Given the description of an element on the screen output the (x, y) to click on. 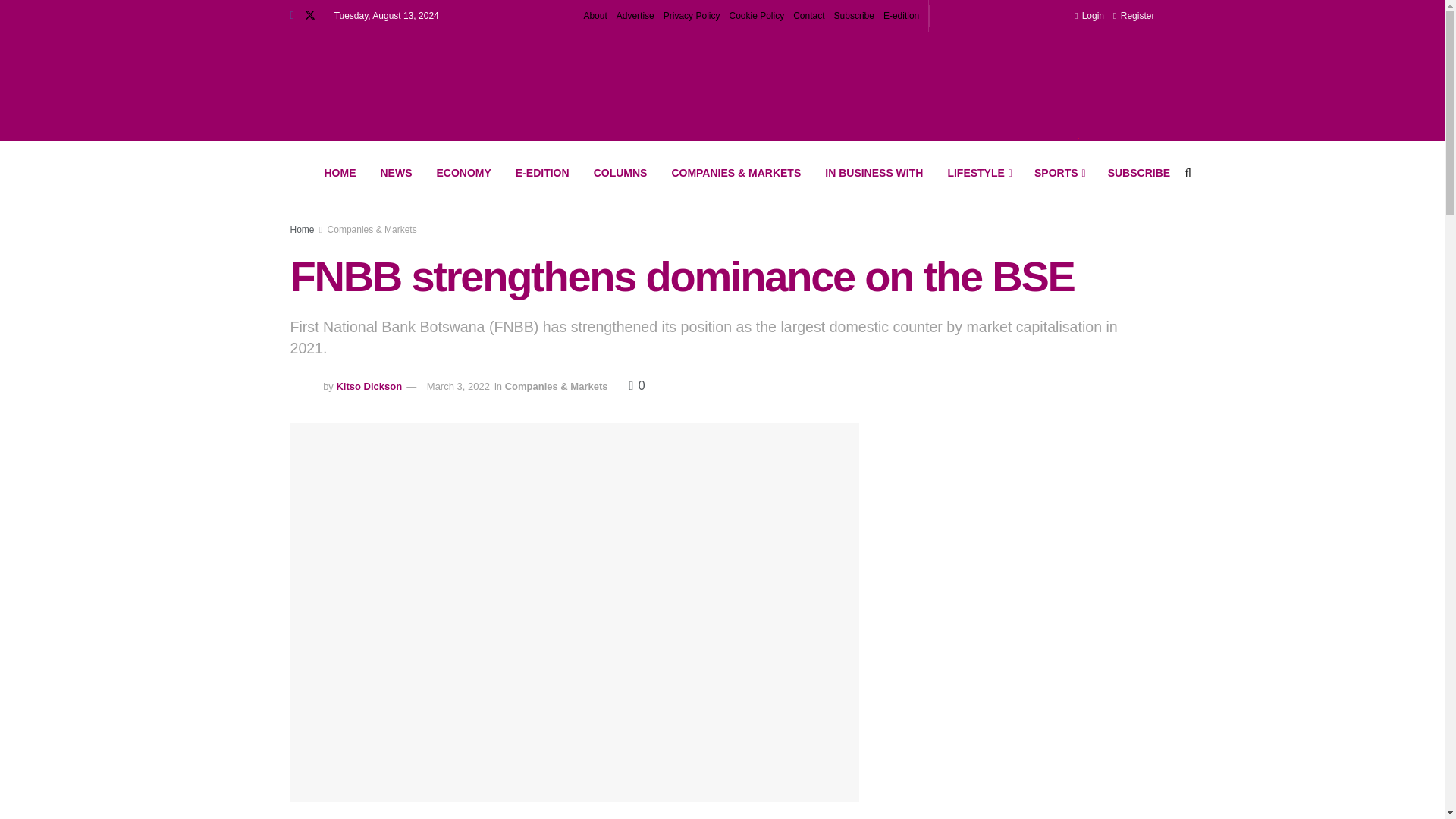
ECONOMY (464, 172)
Cookie Policy (756, 15)
Register (1133, 15)
LIFESTYLE (978, 172)
SPORTS (1059, 172)
Contact (808, 15)
Login (1088, 15)
Subscribe (854, 15)
E-EDITION (541, 172)
Advertise (634, 15)
